Given the description of an element on the screen output the (x, y) to click on. 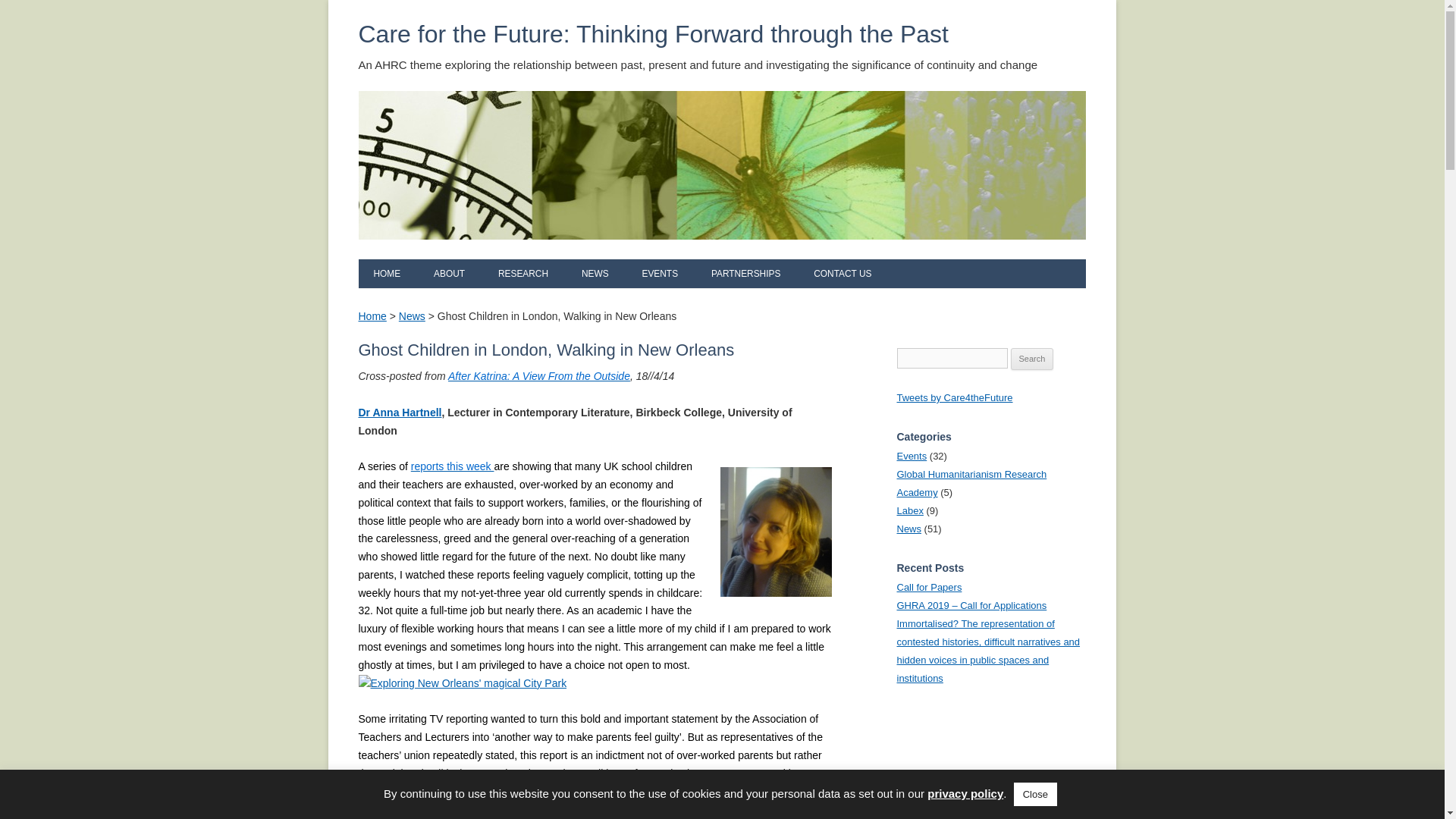
ABOUT (449, 273)
Tweets by Care4theFuture (953, 397)
Search (1032, 359)
After Katrina: A View From the Outside (539, 376)
Dr Anna Hartnell (399, 412)
privacy policy (965, 793)
PEOPLE (502, 302)
News (908, 528)
After Katrina: A View From the Outside (539, 376)
HOME (386, 273)
Care for the Future: Thinking Forward through the Past (652, 34)
Home (371, 316)
reports this week (452, 466)
Search (1032, 359)
News (411, 316)
